Given the description of an element on the screen output the (x, y) to click on. 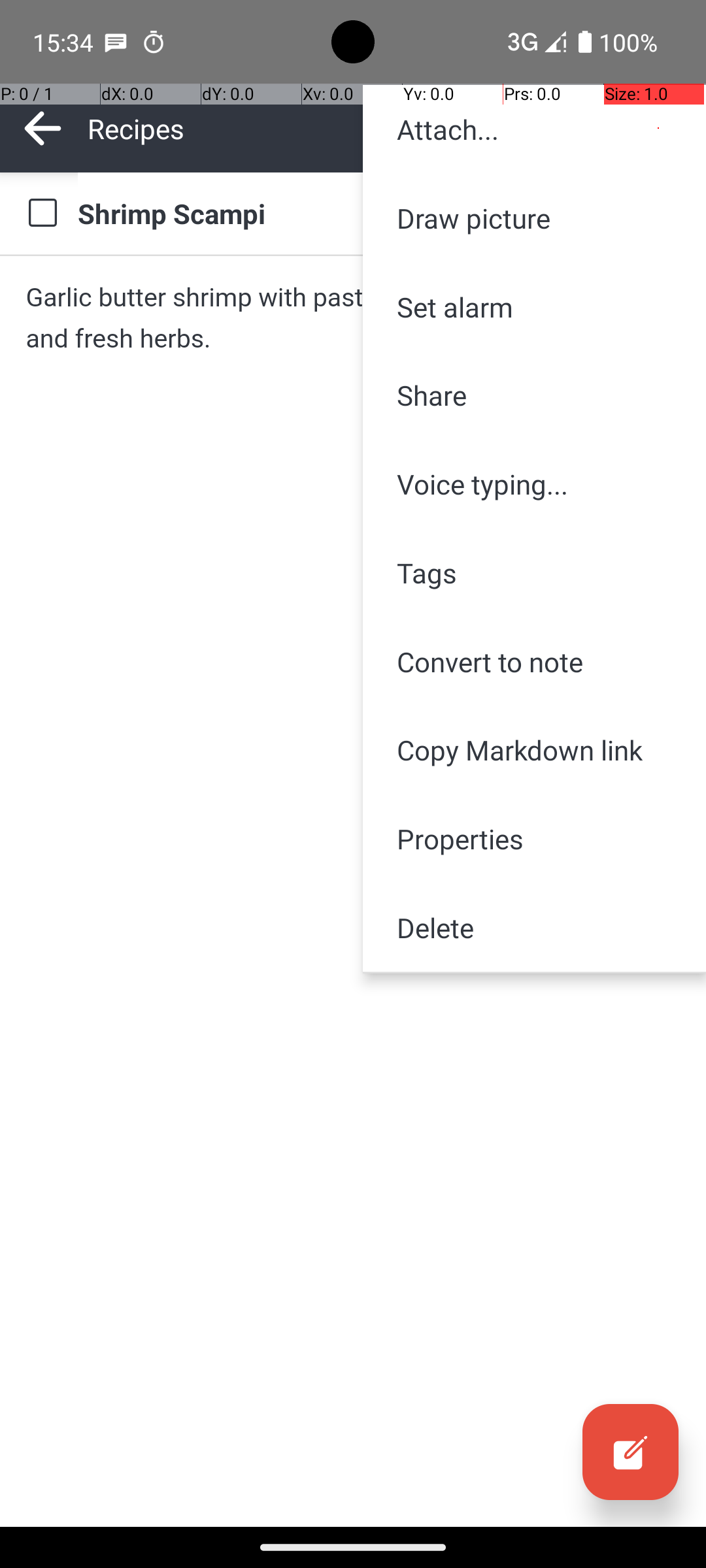
Shrimp Scampi Element type: android.widget.EditText (378, 213)
Garlic butter shrimp with pasta, lemon juice, white wine, and fresh herbs. Element type: android.widget.TextView (352, 317)
